Given the description of an element on the screen output the (x, y) to click on. 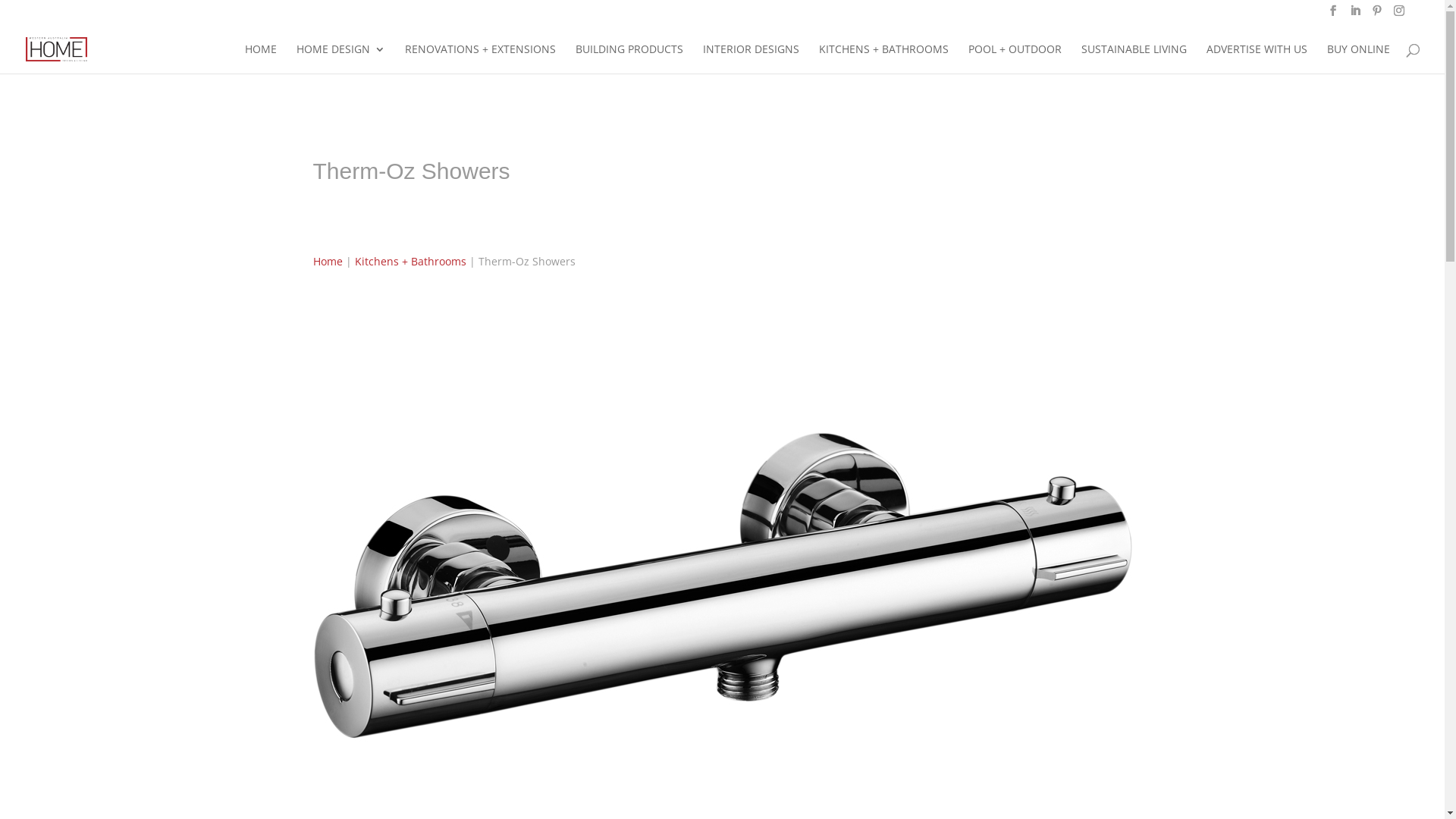
HOME DESIGN Element type: text (340, 58)
INTERIOR DESIGNS Element type: text (750, 58)
RENOVATIONS + EXTENSIONS Element type: text (479, 58)
ADVERTISE WITH US Element type: text (1256, 58)
POOL + OUTDOOR Element type: text (1014, 58)
HOME Element type: text (260, 58)
SUSTAINABLE LIVING Element type: text (1133, 58)
BUY ONLINE Element type: text (1358, 58)
KITCHENS + BATHROOMS Element type: text (883, 58)
Kitchens + Bathrooms Element type: text (410, 261)
BUILDING PRODUCTS Element type: text (629, 58)
Home Element type: text (327, 261)
